Given the description of an element on the screen output the (x, y) to click on. 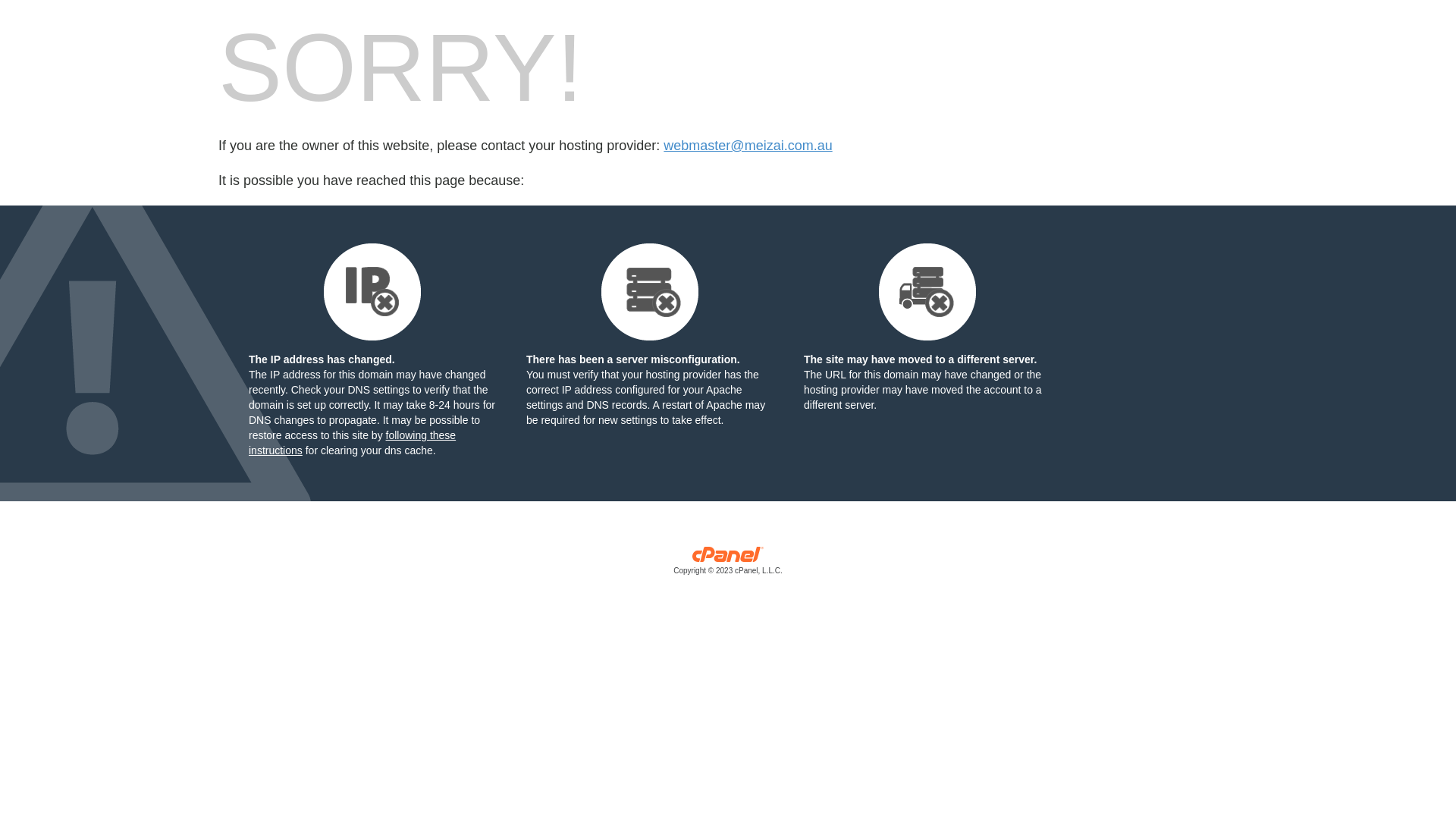
following these instructions Element type: text (351, 442)
webmaster@meizai.com.au Element type: text (747, 145)
